Given the description of an element on the screen output the (x, y) to click on. 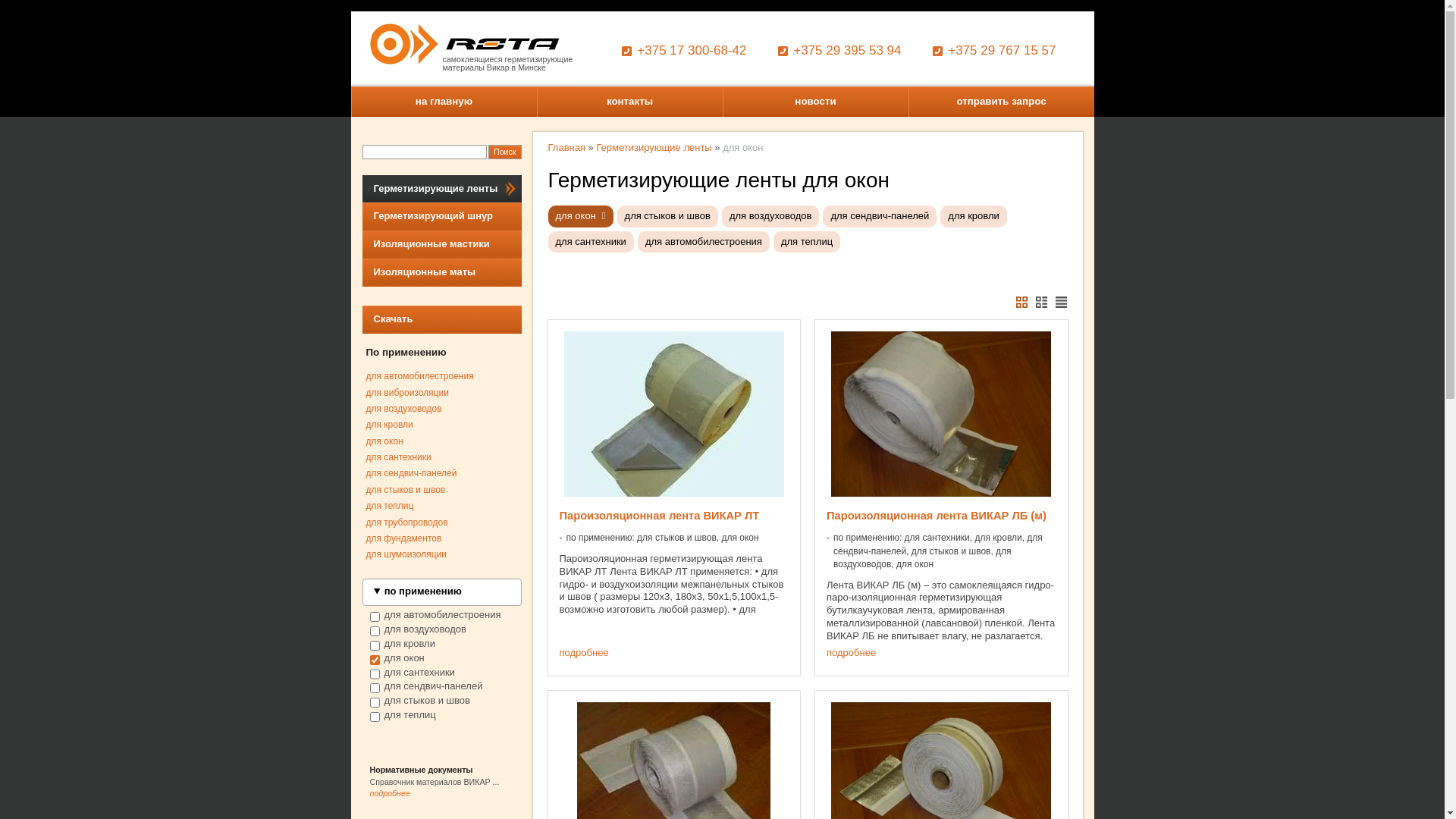
+375 29 395 53 94 Element type: text (838, 50)
+375 17 300-68-42 Element type: text (683, 50)
+375 29 767 15 57 Element type: text (993, 50)
